Given the description of an element on the screen output the (x, y) to click on. 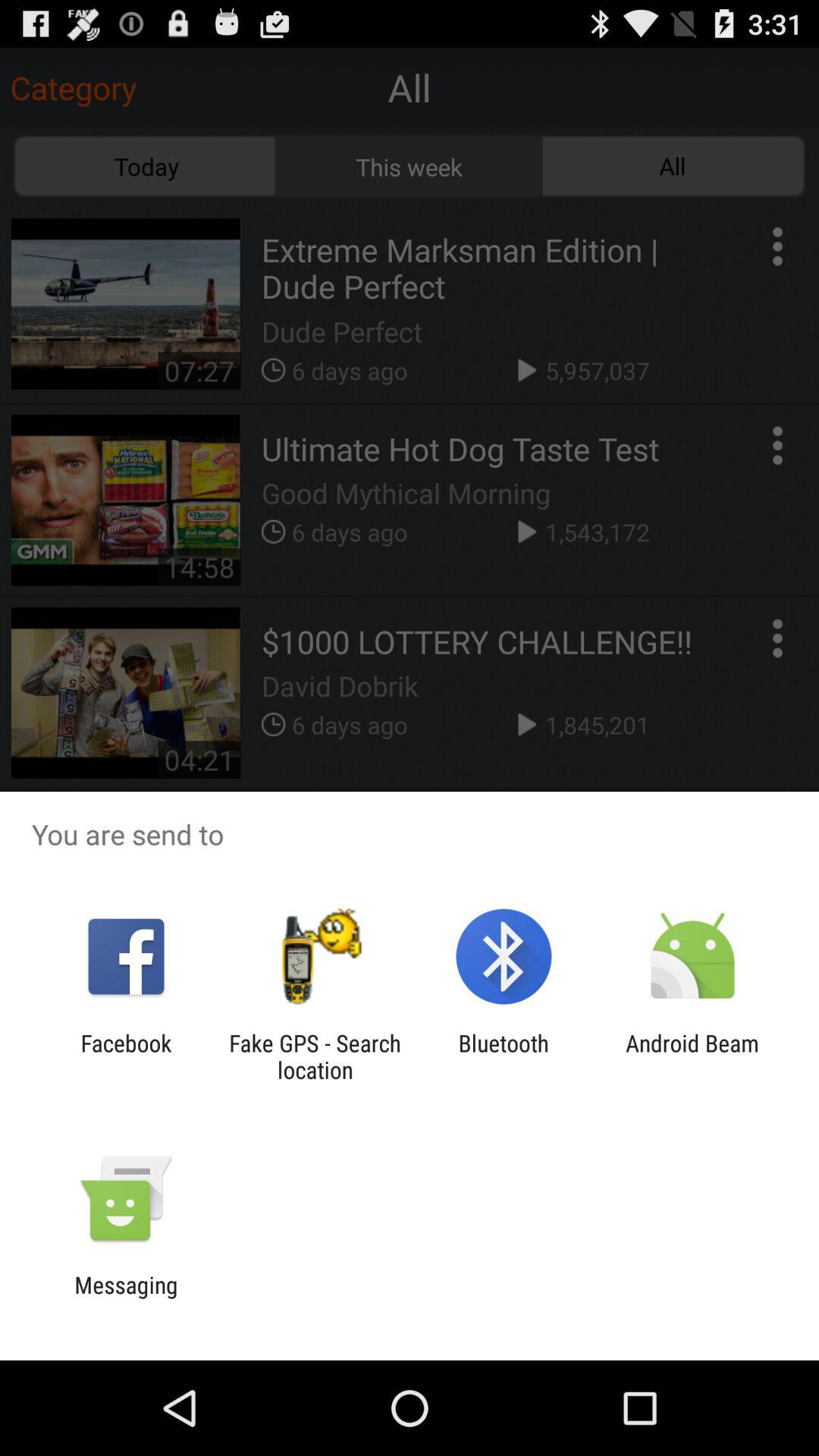
launch item to the right of the fake gps search icon (503, 1056)
